Given the description of an element on the screen output the (x, y) to click on. 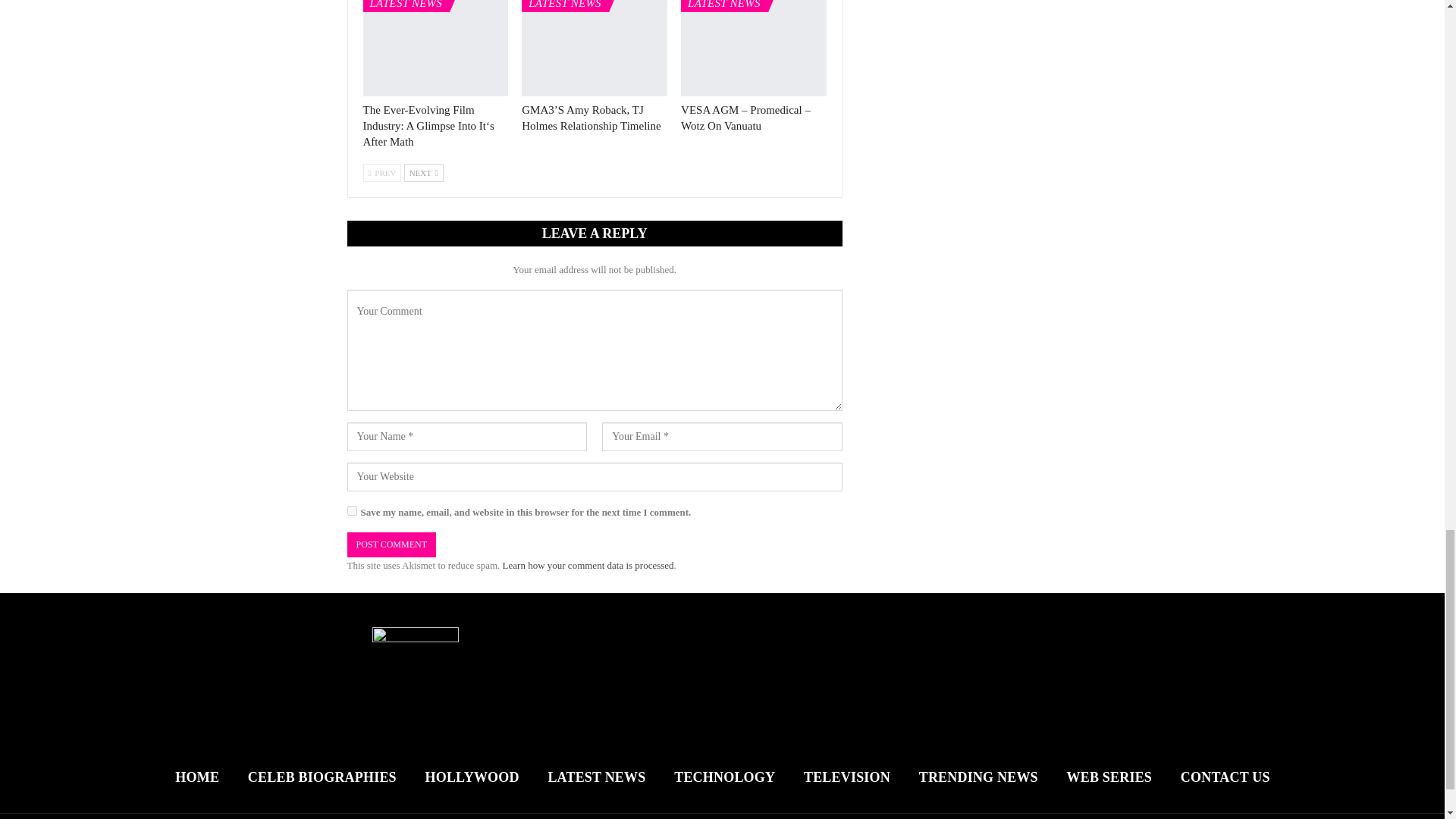
Post Comment (391, 544)
yes (351, 510)
